Given the description of an element on the screen output the (x, y) to click on. 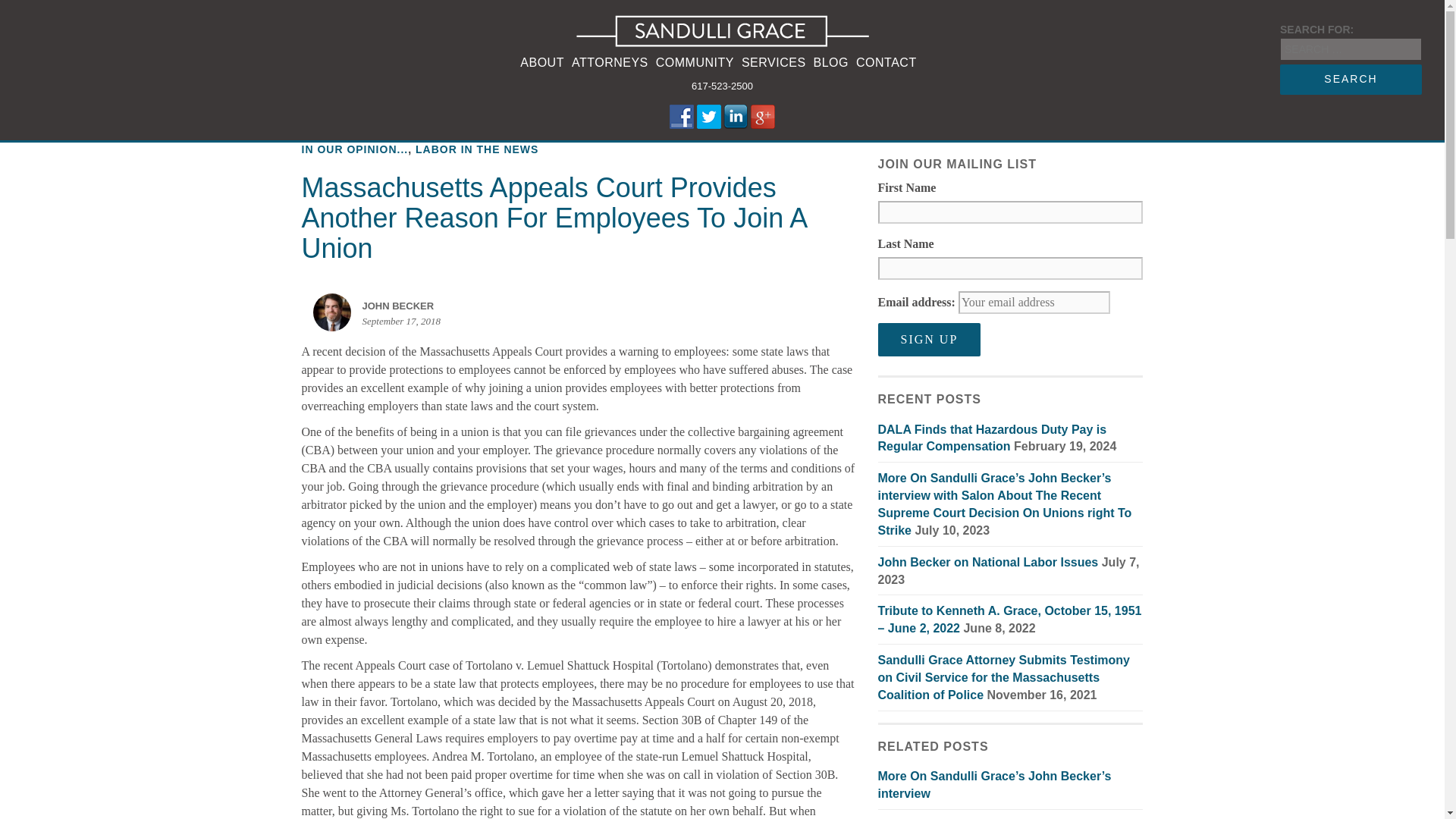
Sign up (929, 339)
LABOR IN THE NEWS (476, 149)
SERVICES (773, 63)
John Becker on National Labor Issues (988, 562)
BLOG (830, 63)
CONTACT (886, 63)
Search (1350, 79)
Sign up (929, 339)
JOHN BECKER (401, 306)
ATTORNEYS (609, 63)
